Given the description of an element on the screen output the (x, y) to click on. 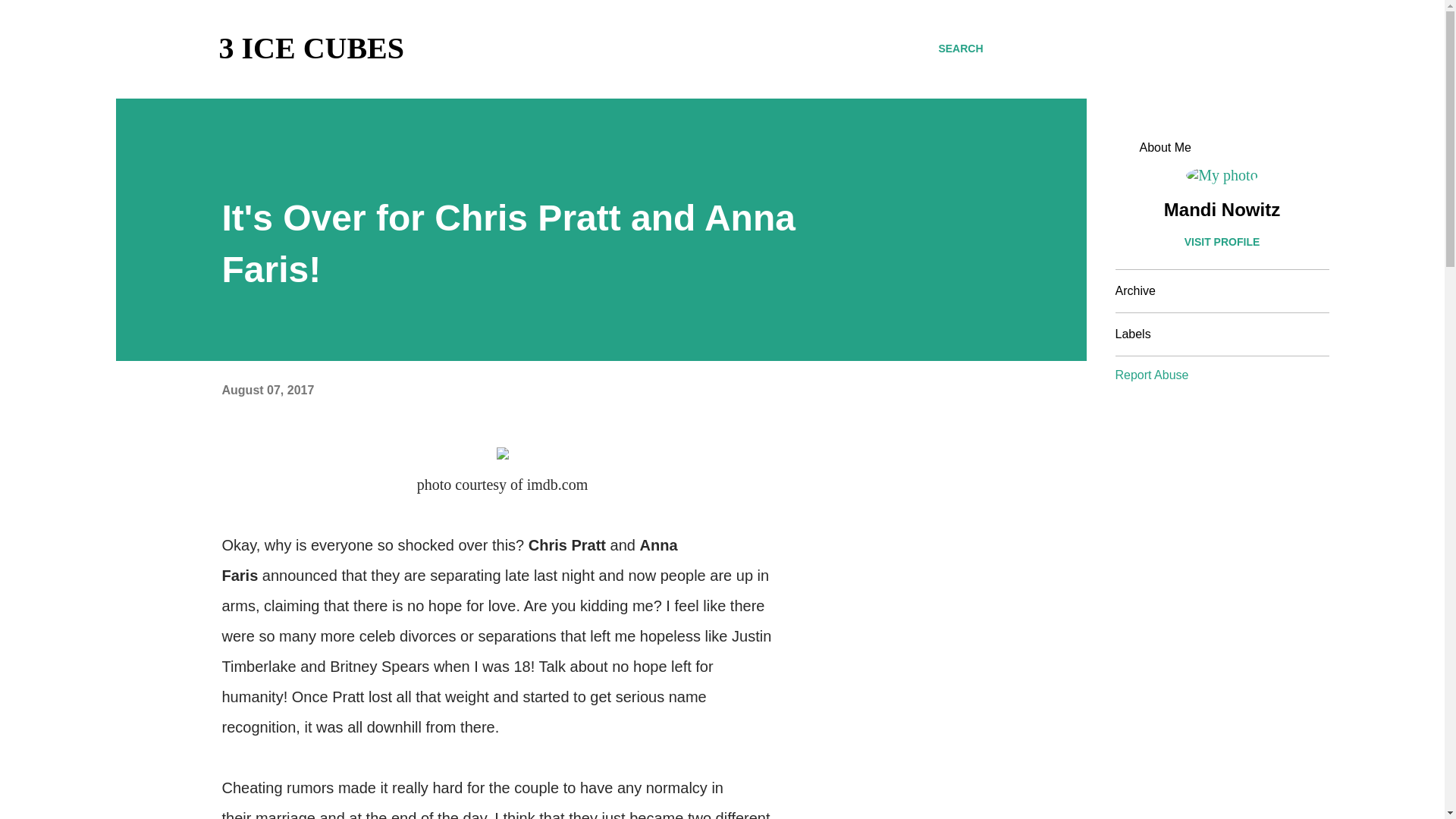
SEARCH (959, 48)
3 ICE CUBES (311, 48)
August 07, 2017 (267, 390)
permanent link (267, 390)
